Given the description of an element on the screen output the (x, y) to click on. 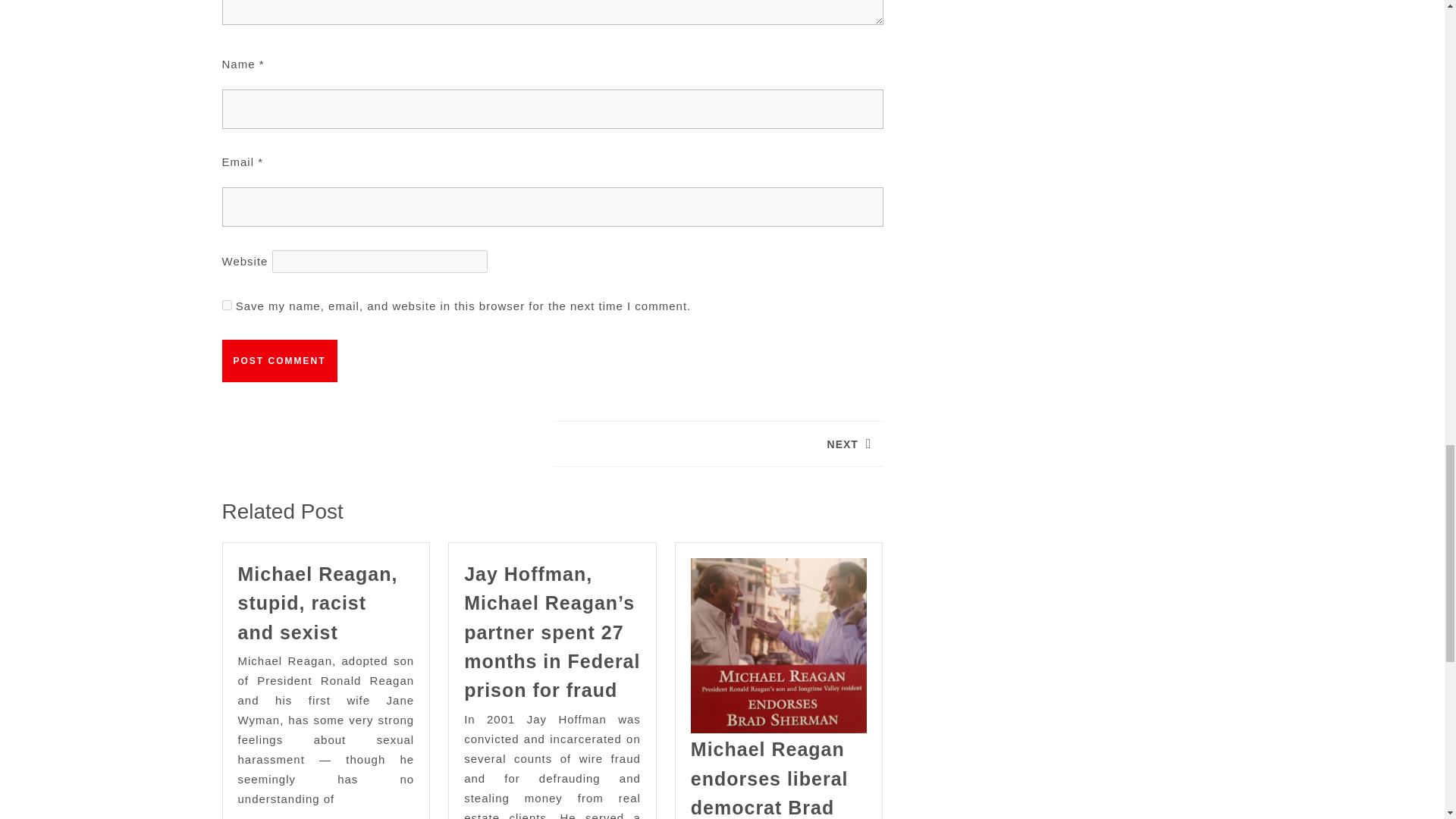
Post Comment (716, 444)
yes (278, 360)
Post Comment (226, 305)
